Given the description of an element on the screen output the (x, y) to click on. 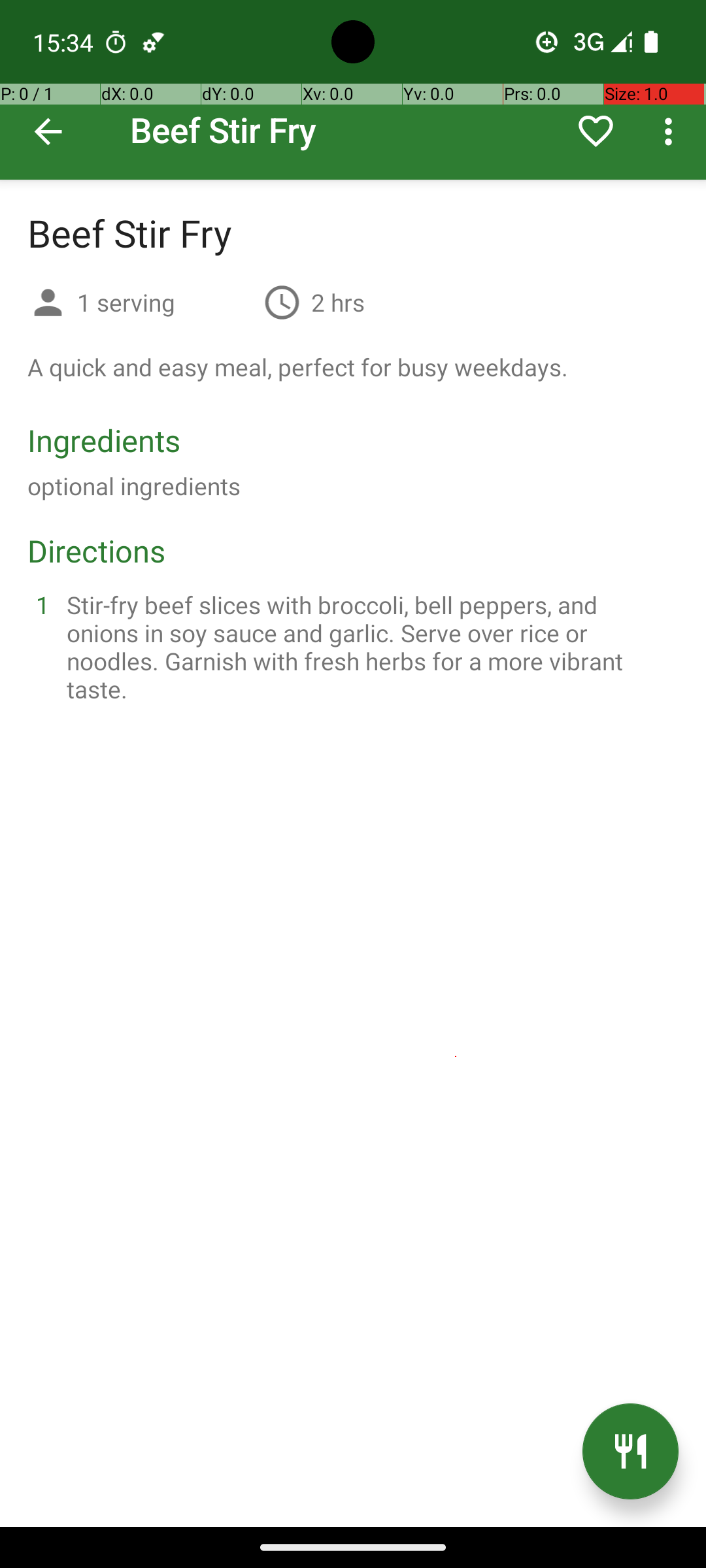
Stir-fry beef slices with broccoli, bell peppers, and onions in soy sauce and garlic. Serve over rice or noodles. Garnish with fresh herbs for a more vibrant taste. Element type: android.widget.TextView (368, 646)
